Given the description of an element on the screen output the (x, y) to click on. 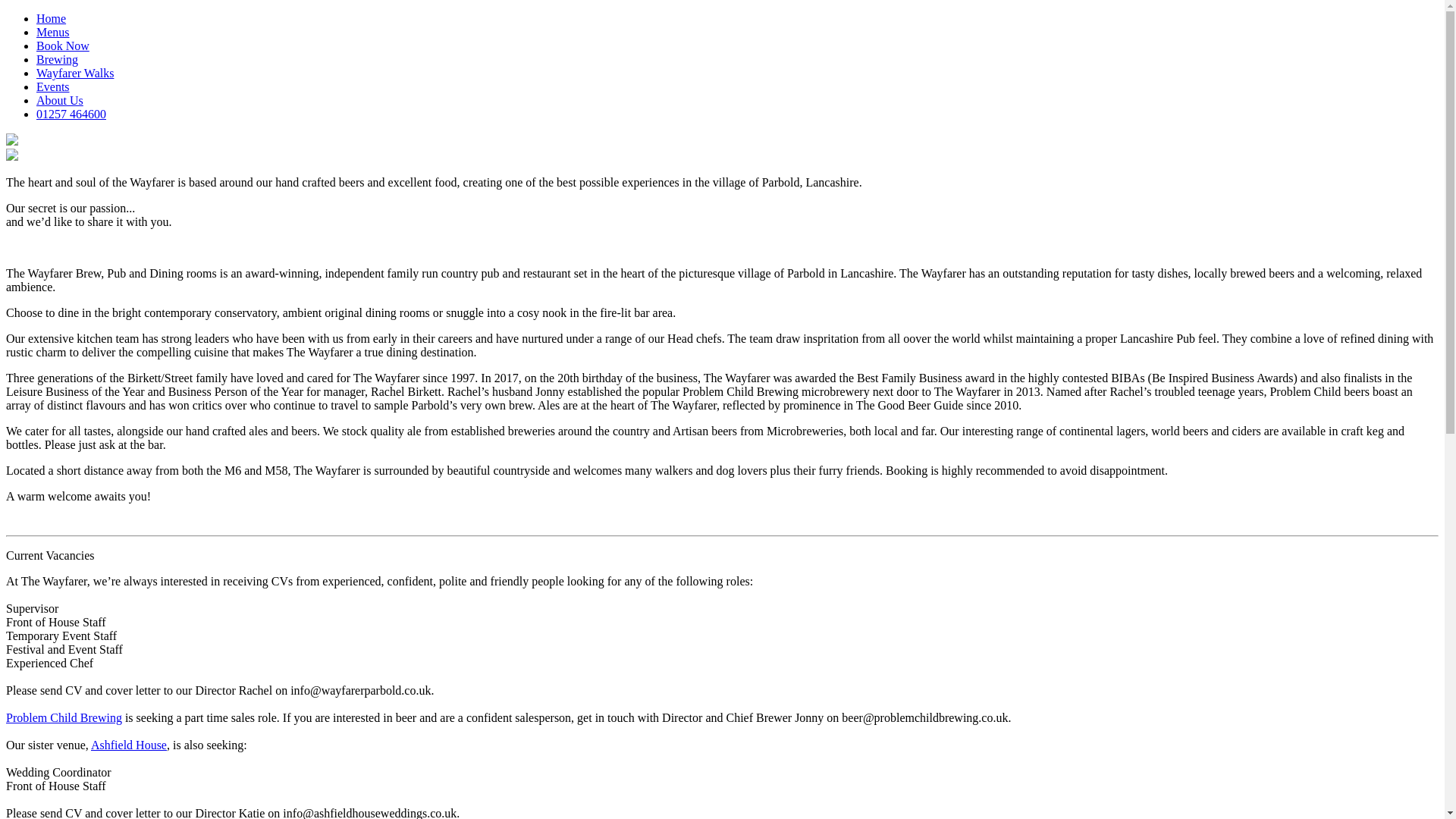
Problem Child Brewing (63, 717)
Ashfield House (128, 744)
Brewing (57, 59)
Book Now (62, 45)
About Us (59, 100)
Events (52, 86)
Wayfarer Walks (74, 72)
Menus (52, 31)
Home (50, 18)
01257 464600 (71, 113)
